Given the description of an element on the screen output the (x, y) to click on. 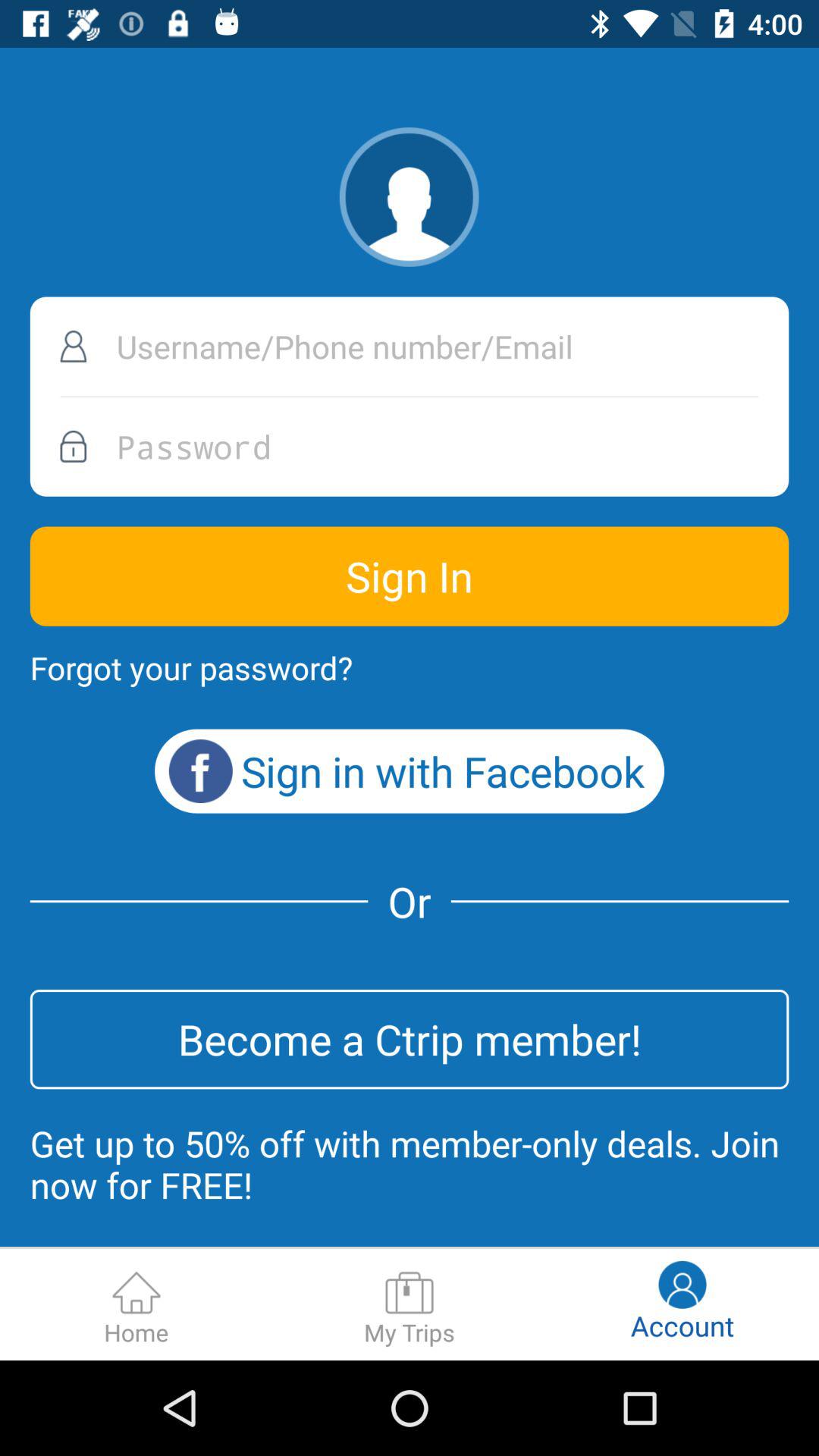
select the forgot your password? (191, 667)
